Given the description of an element on the screen output the (x, y) to click on. 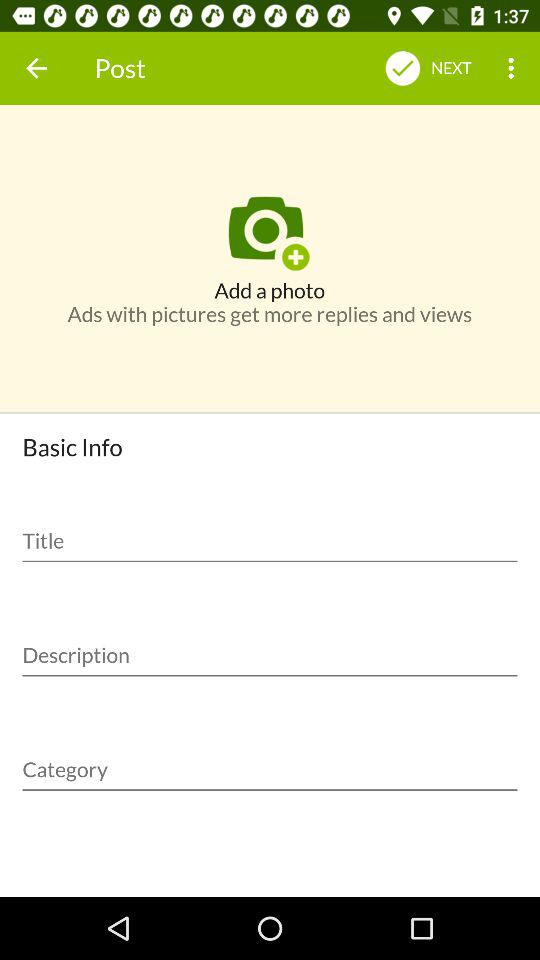
open item to the right of the next (513, 67)
